Given the description of an element on the screen output the (x, y) to click on. 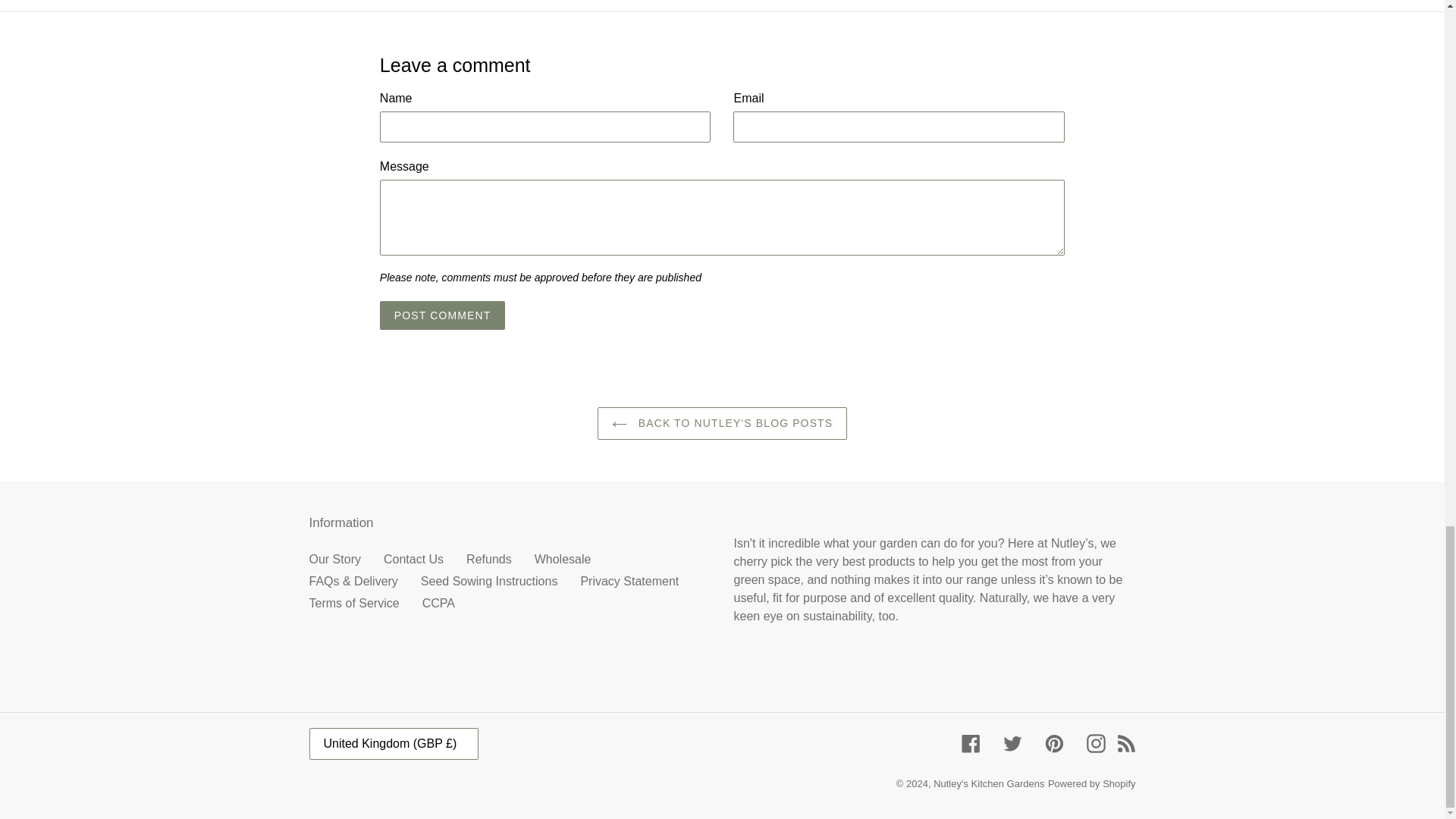
Post comment (442, 315)
